Given the description of an element on the screen output the (x, y) to click on. 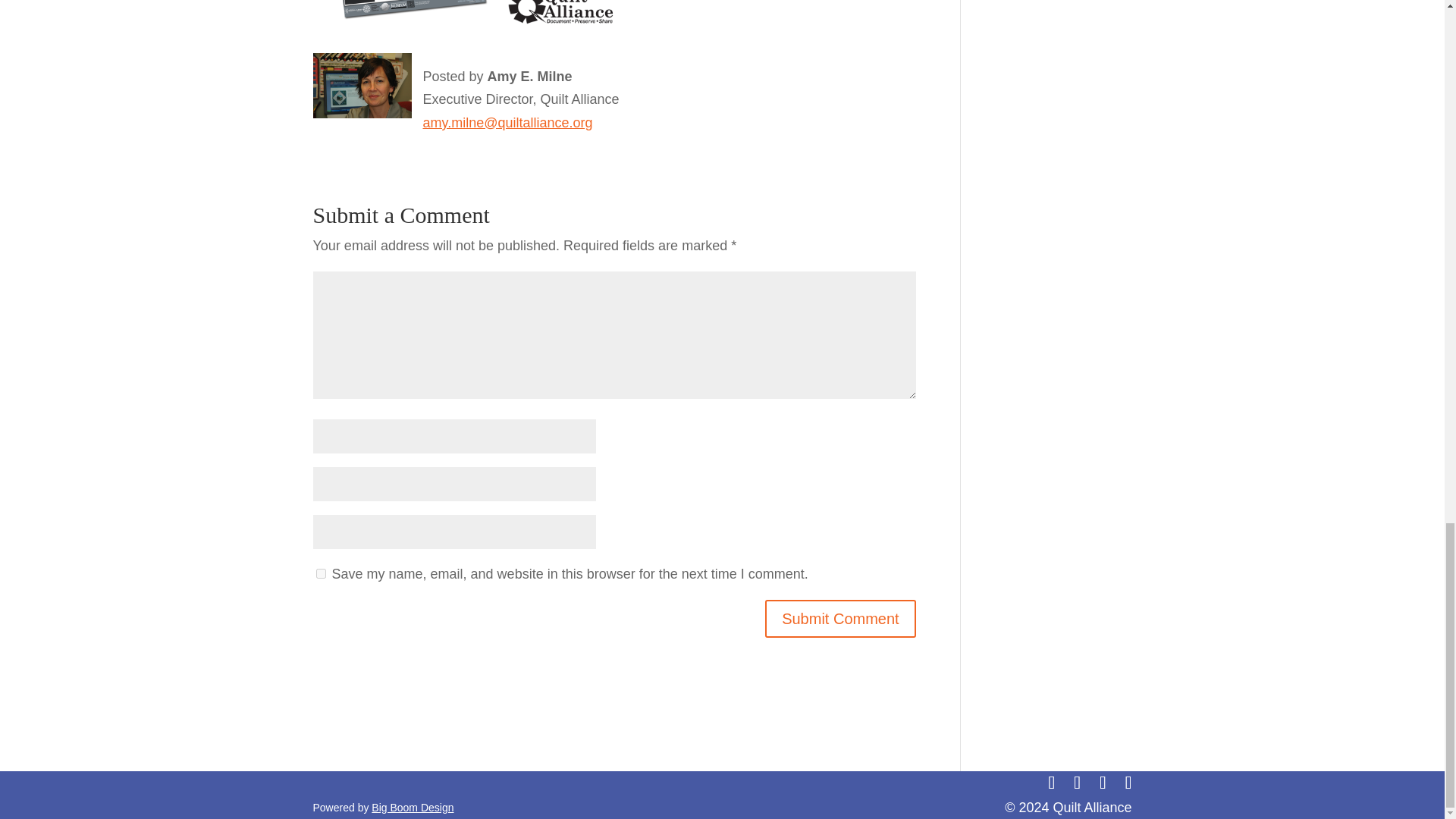
yes (319, 573)
Submit Comment (840, 618)
